Given the description of an element on the screen output the (x, y) to click on. 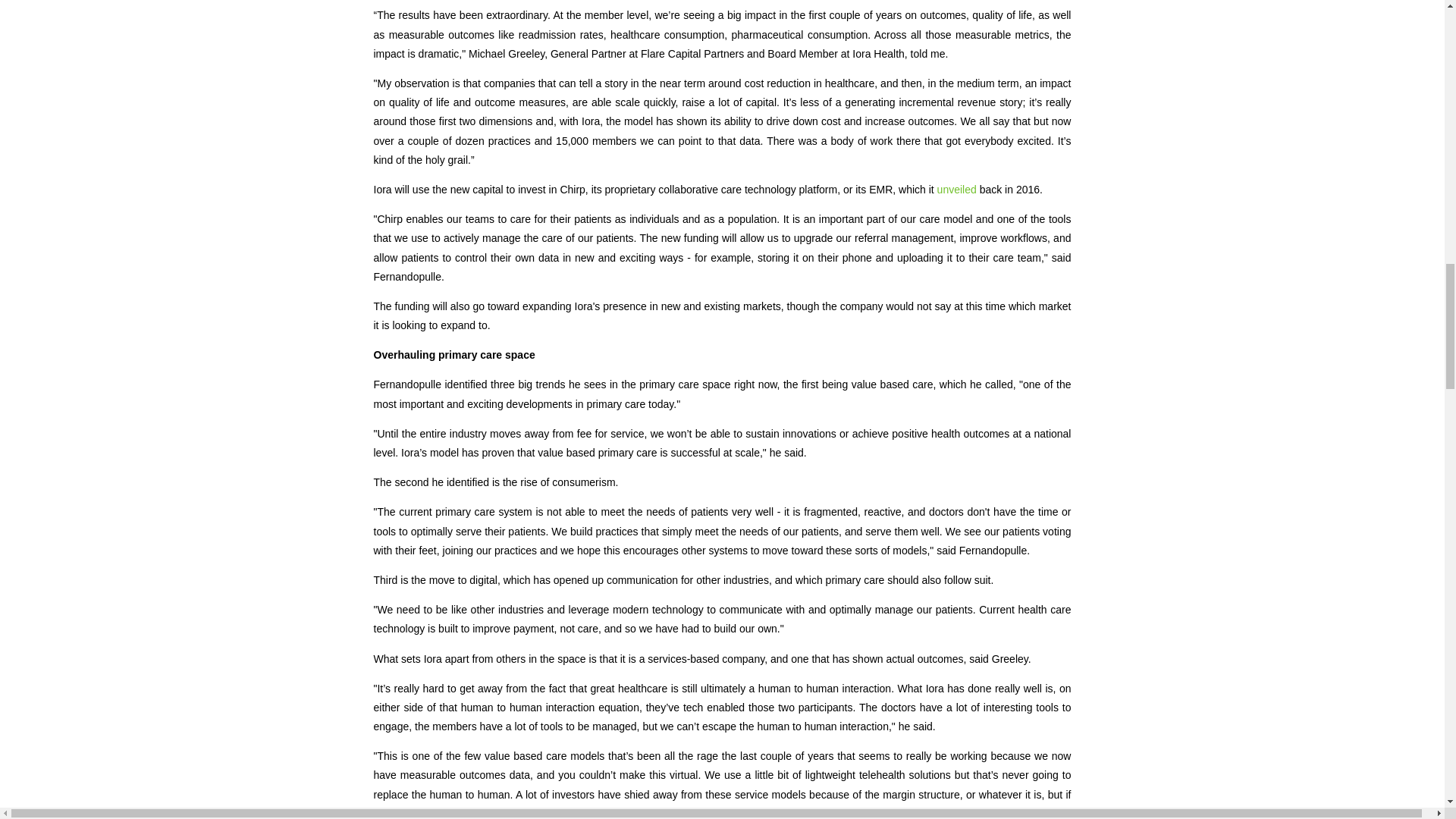
unveiled (956, 189)
